Given the description of an element on the screen output the (x, y) to click on. 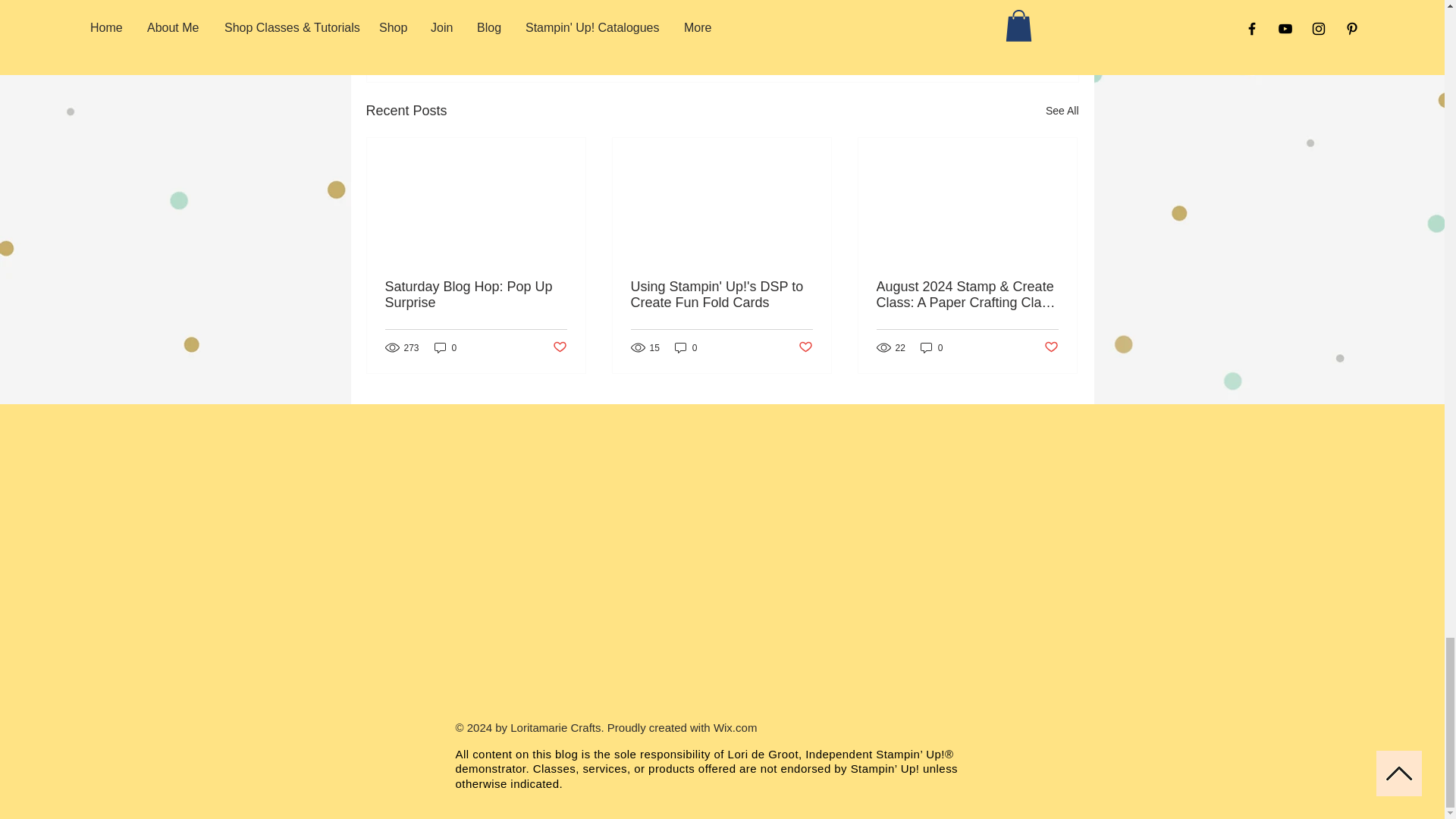
0 (445, 347)
Saturday Blog Hop: Pop Up Surprise (476, 295)
See All (1061, 110)
0 (685, 347)
Post not marked as liked (558, 347)
Post not marked as liked (995, 28)
Using Stampin' Up!'s DSP to Create Fun Fold Cards (721, 295)
Post not marked as liked (804, 347)
0 (931, 347)
